Given the description of an element on the screen output the (x, y) to click on. 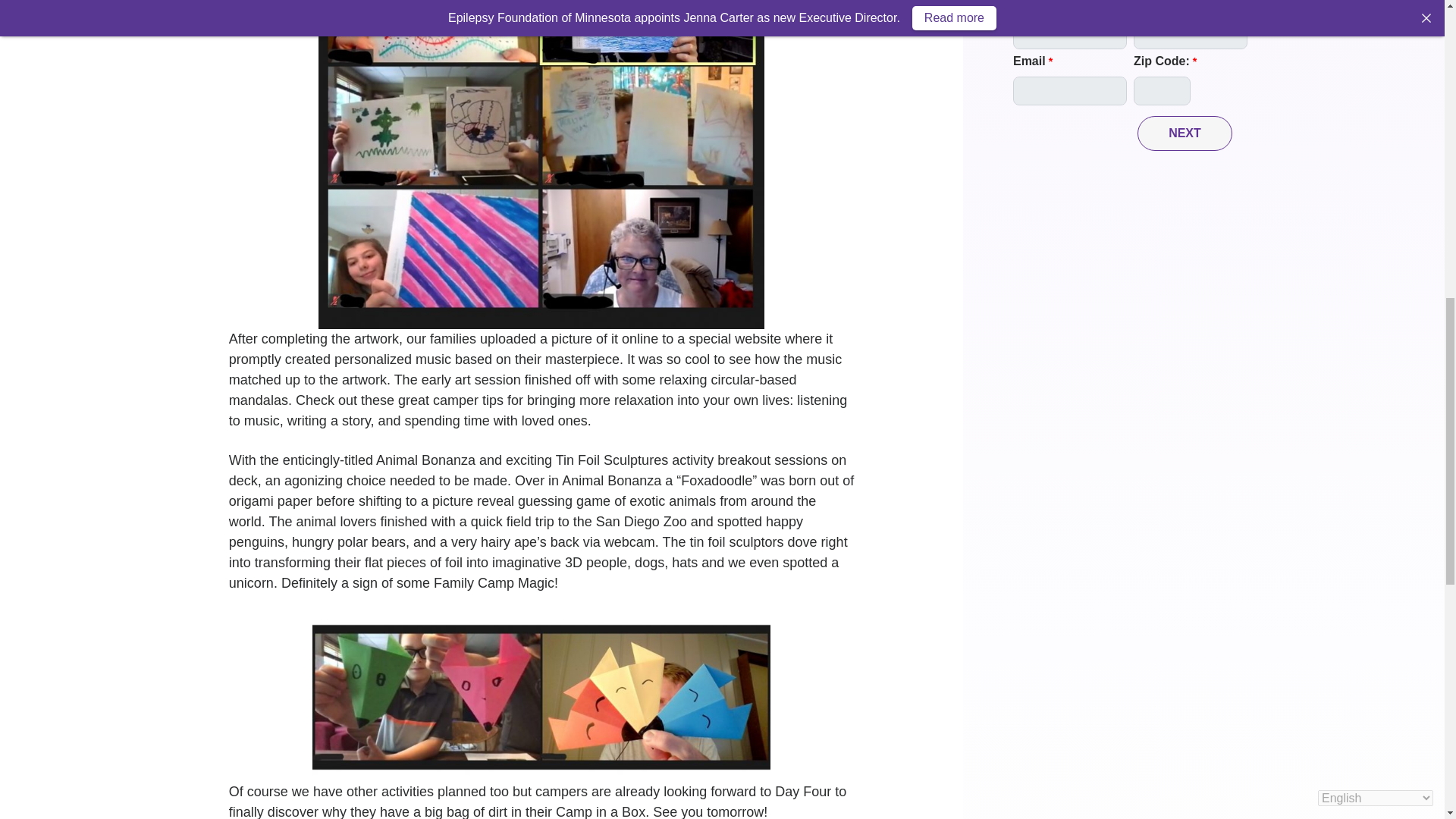
Next (1184, 133)
Last Name (1190, 34)
First Name (1069, 34)
Zip Code: (1162, 90)
Email (1069, 90)
